Given the description of an element on the screen output the (x, y) to click on. 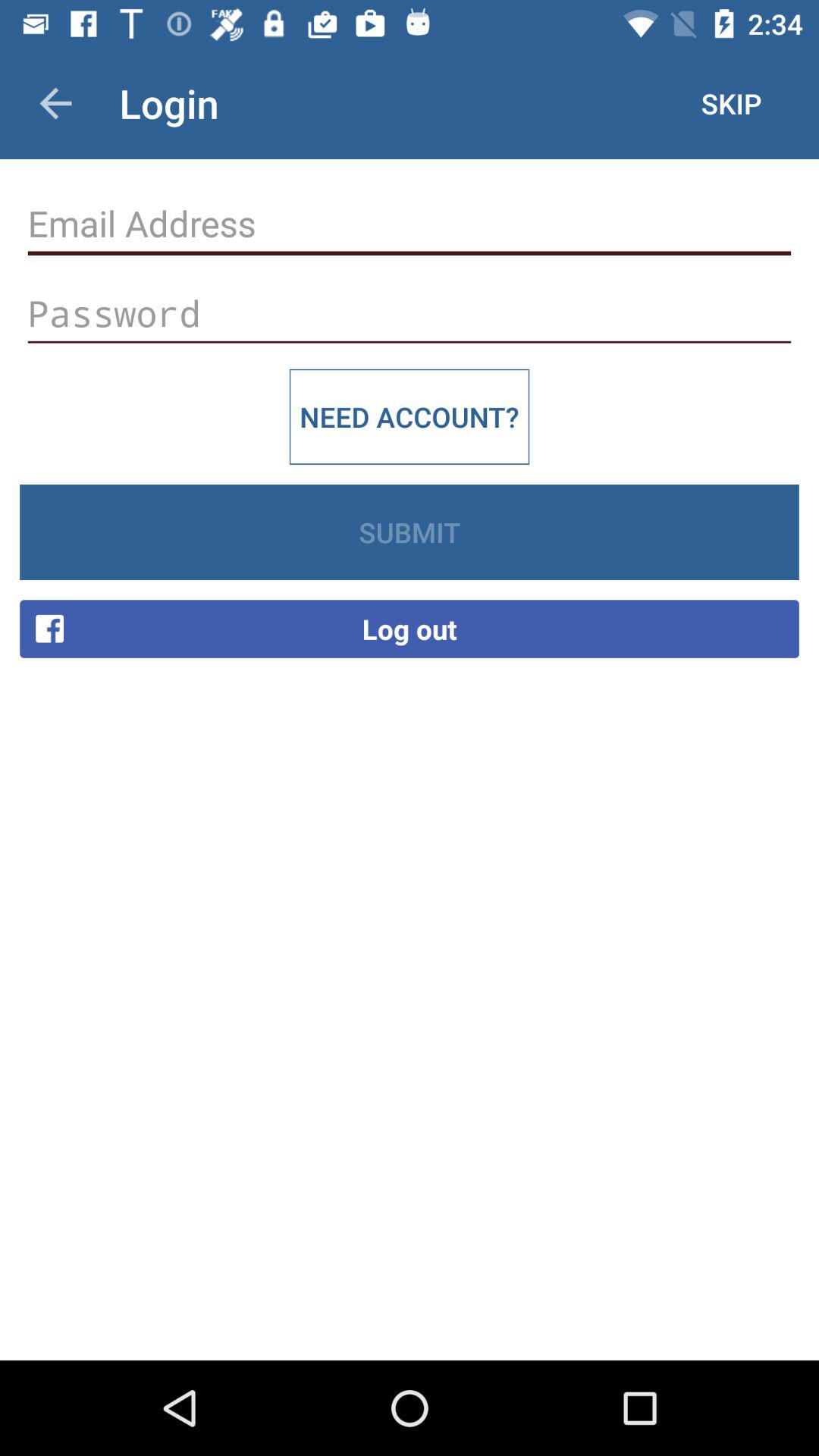
click the item next to the login (731, 103)
